Given the description of an element on the screen output the (x, y) to click on. 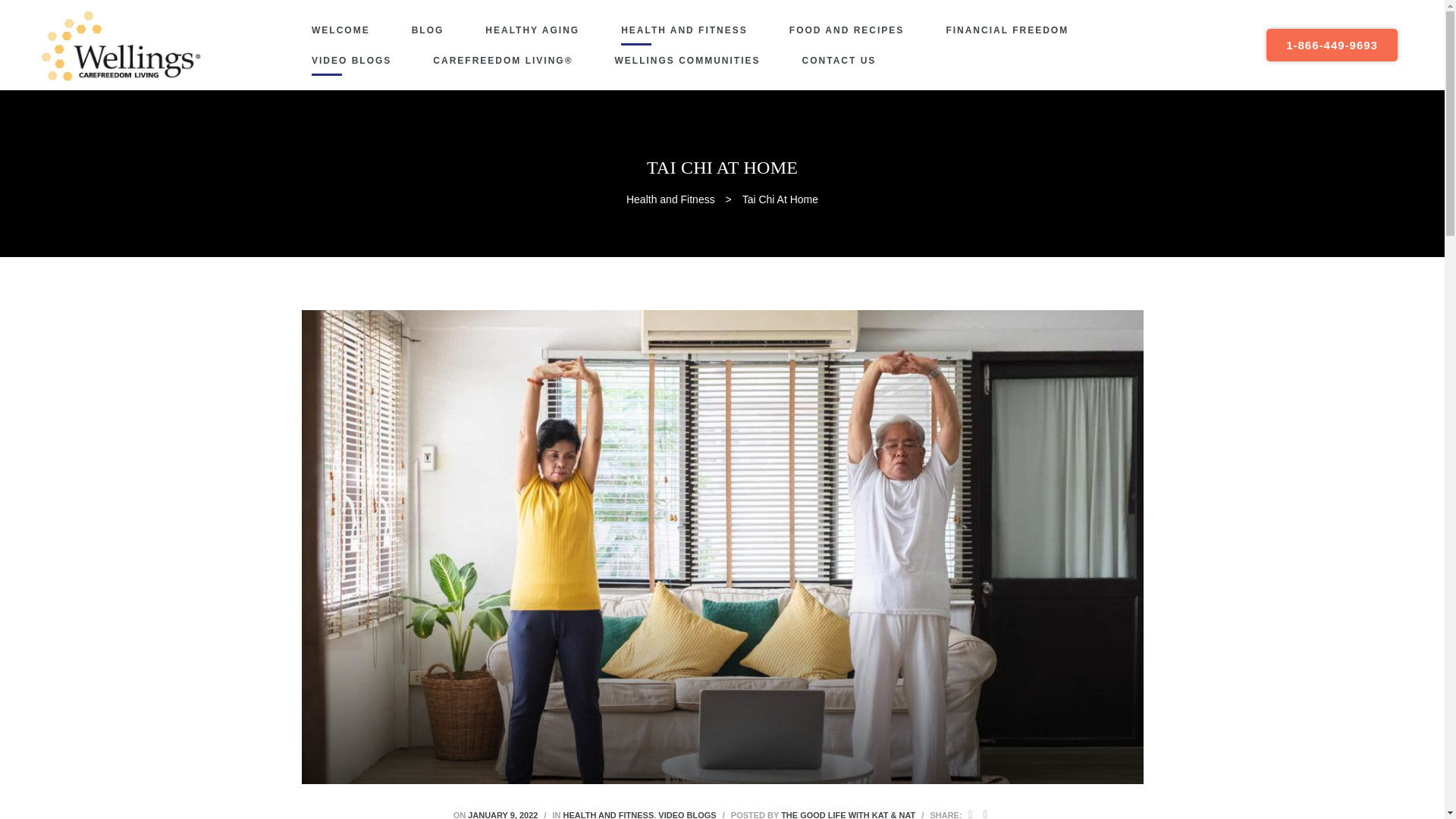
1-866-449-9693 (1331, 44)
FOOD AND RECIPES (846, 30)
HEALTH AND FITNESS (608, 814)
BLOG (428, 30)
HEALTHY AGING (531, 30)
FINANCIAL FREEDOM (1006, 30)
HEALTH AND FITNESS (684, 30)
VIDEO BLOGS (687, 814)
WELLINGS COMMUNITIES (687, 60)
Health and Fitness (671, 199)
